Given the description of an element on the screen output the (x, y) to click on. 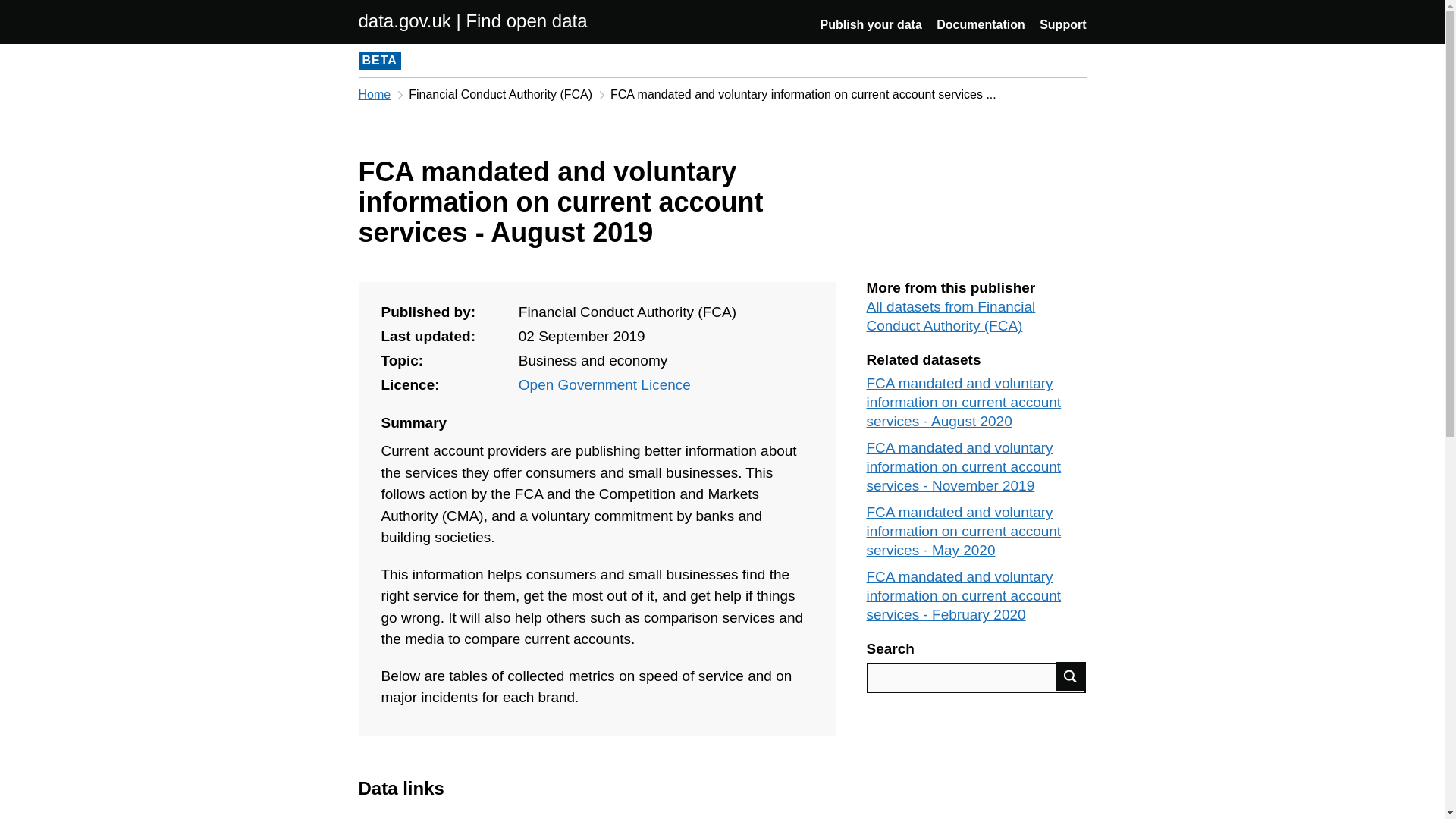
Home (374, 93)
Publish your data (871, 24)
Open Government Licence (604, 384)
Support (1062, 24)
Find data (1070, 676)
Skip to main content (11, 7)
